Given the description of an element on the screen output the (x, y) to click on. 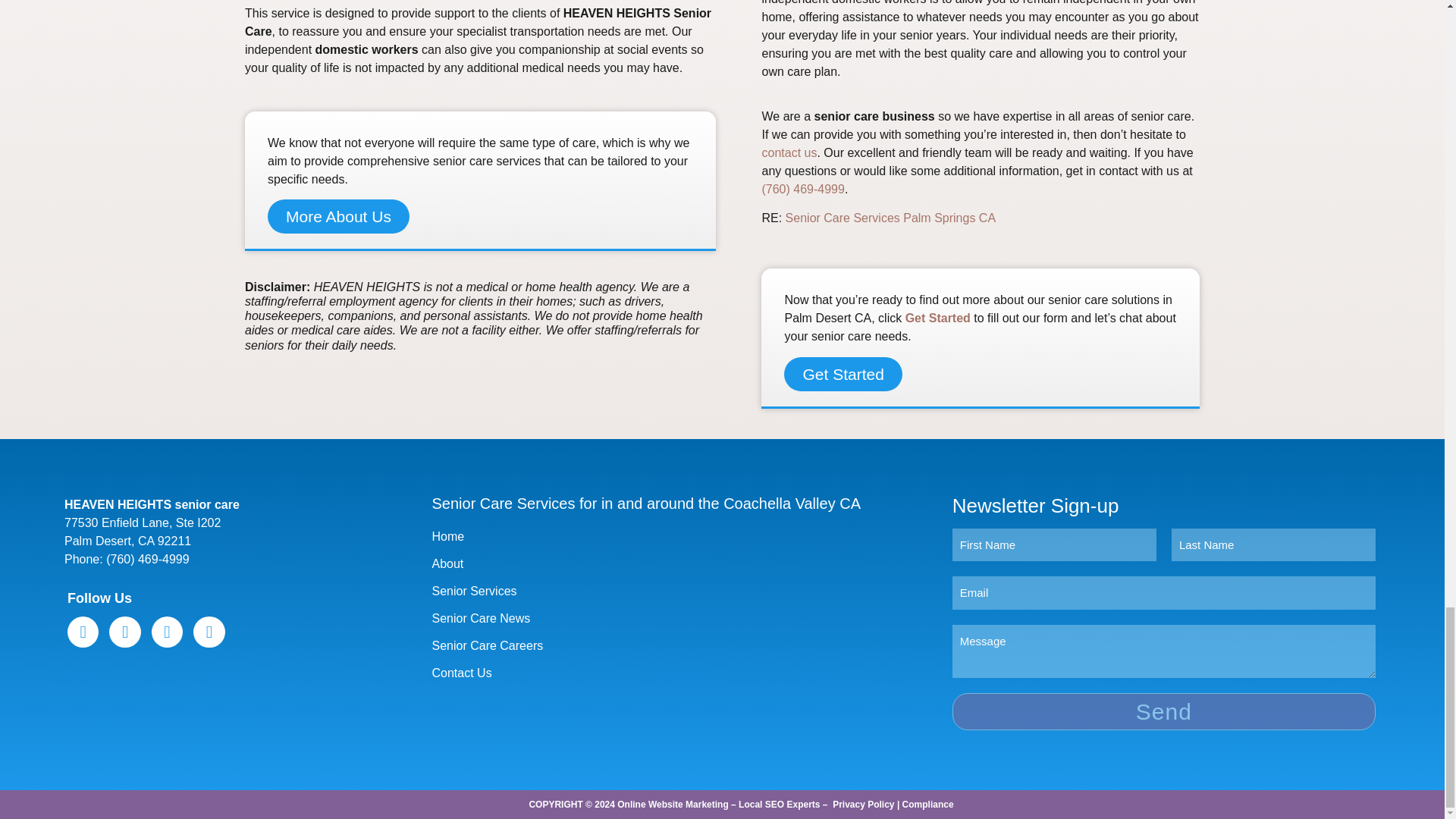
Privacy Policy (862, 804)
Compliance (927, 804)
contact us (788, 152)
Get Started (938, 318)
In Home care Services Carlsbad CA (890, 217)
More About Us (338, 216)
Senior Care Services Palm Springs CA (890, 217)
Get Started (842, 374)
Online Website Marketing - Local SEO Experts (718, 804)
